Given the description of an element on the screen output the (x, y) to click on. 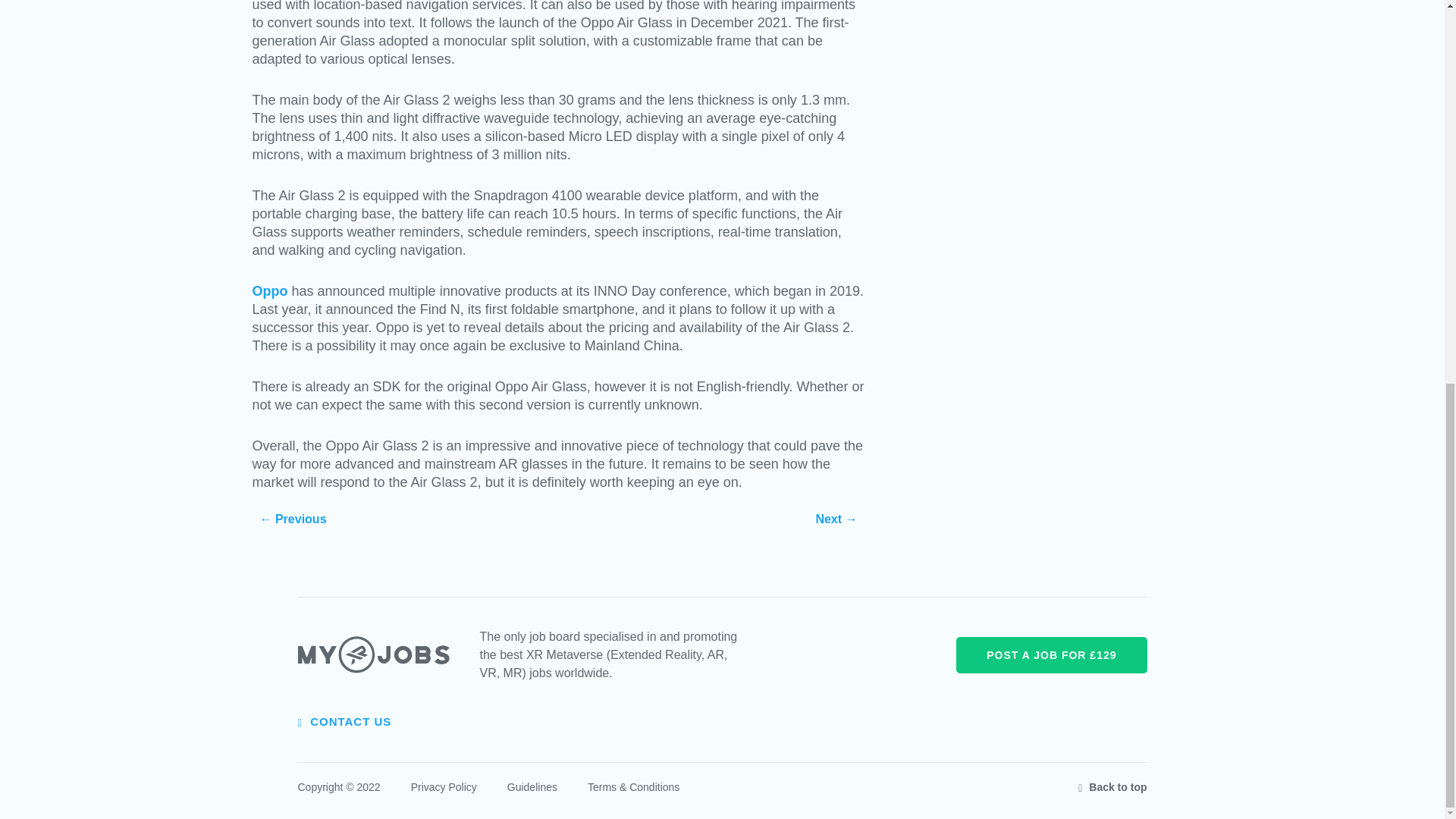
Guidelines (531, 787)
CONTACT US (344, 721)
Privacy Policy (443, 787)
Back to top (1112, 787)
Oppo (268, 290)
